Given the description of an element on the screen output the (x, y) to click on. 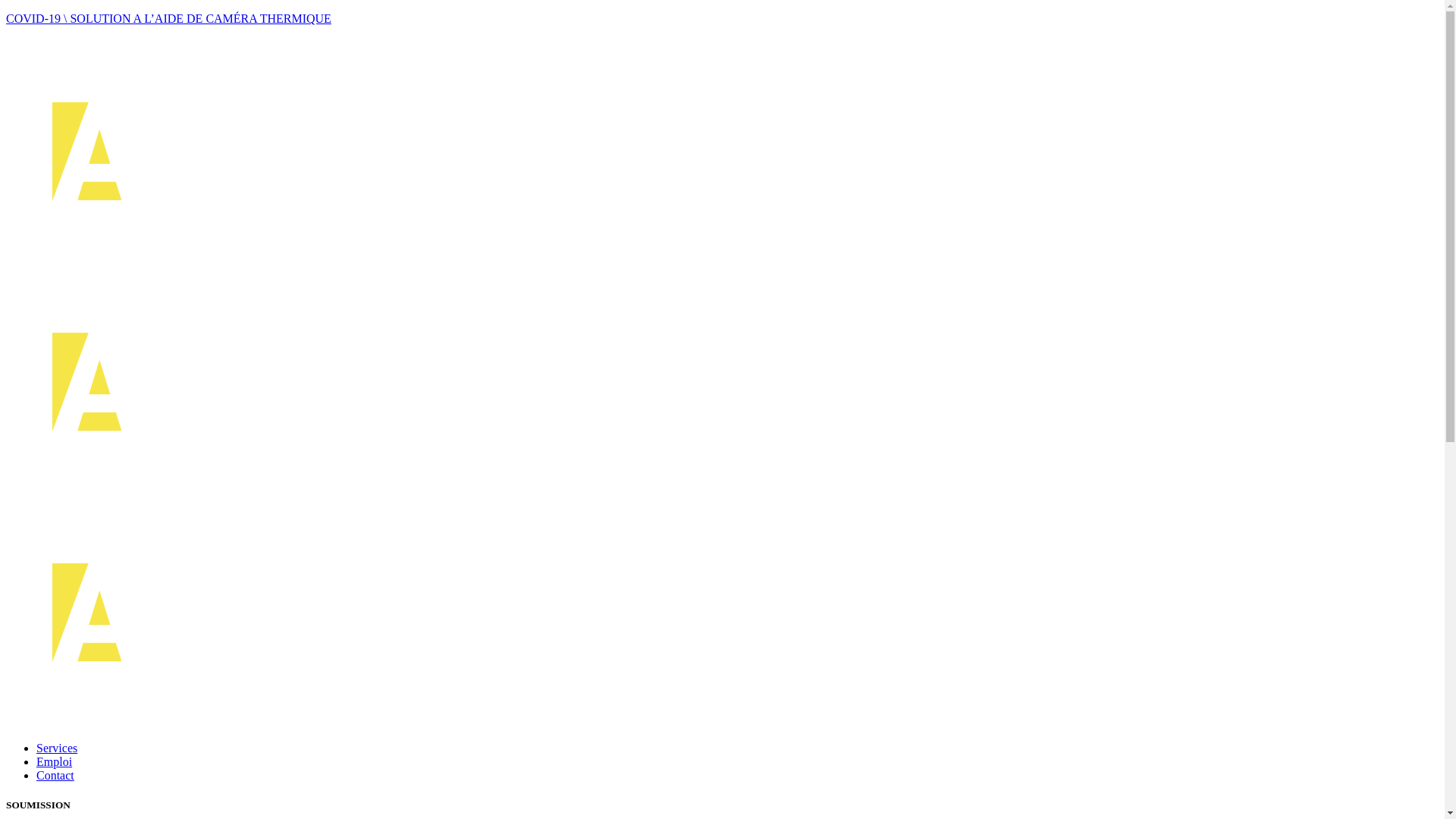
Alarme 2200 Inc. Element type: hover (385, 491)
Emploi Element type: text (54, 761)
Contact Element type: text (55, 774)
Services Element type: text (56, 747)
